Given the description of an element on the screen output the (x, y) to click on. 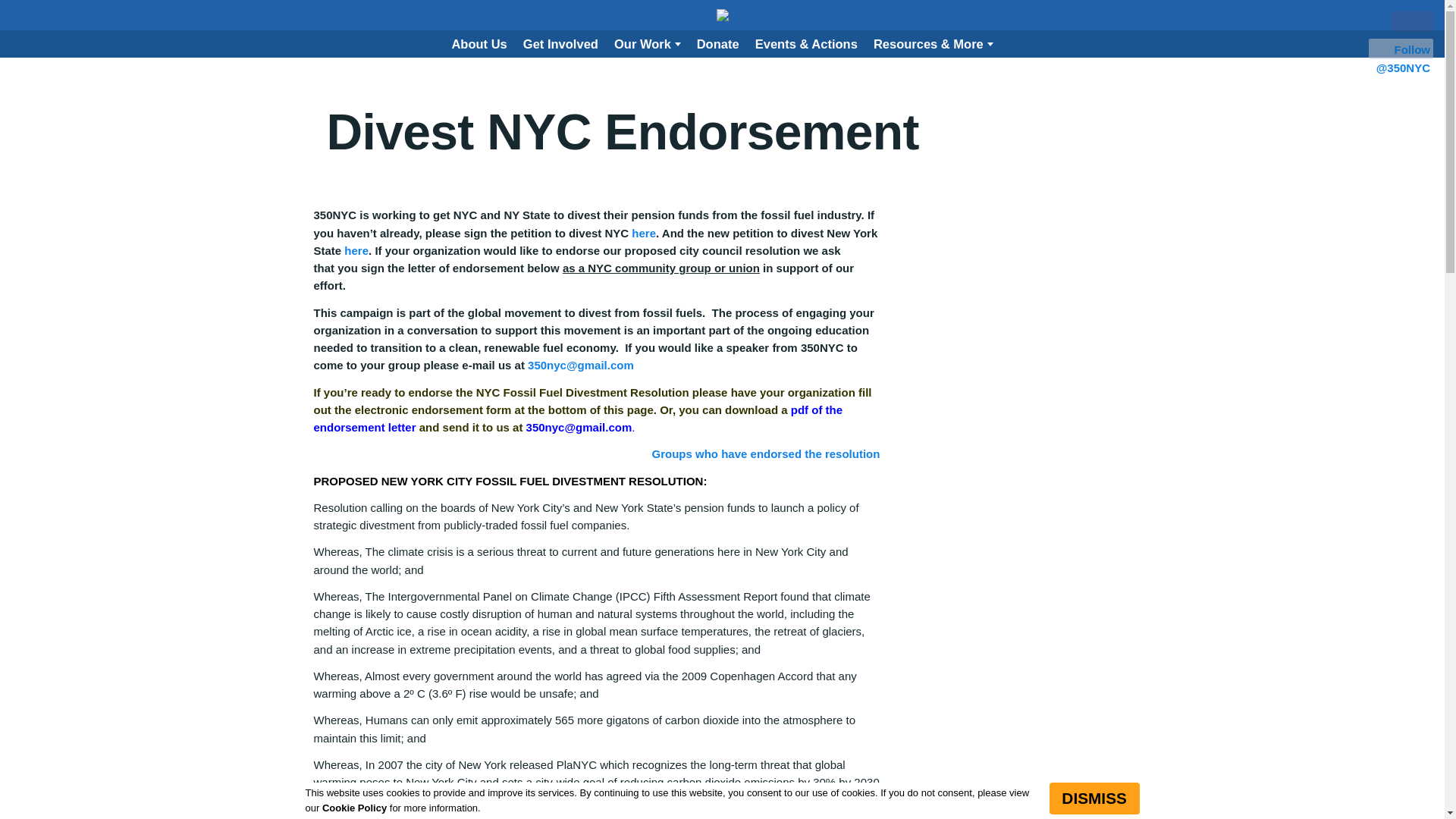
About Us (479, 43)
here (355, 250)
Groups who have endorsed the resolution (766, 453)
pdf of the endorsement letter (578, 418)
Get Involved (560, 43)
Fossil Free NYC Divestment Petition (643, 232)
Our Work (647, 43)
here (643, 232)
Donate (717, 43)
